Given the description of an element on the screen output the (x, y) to click on. 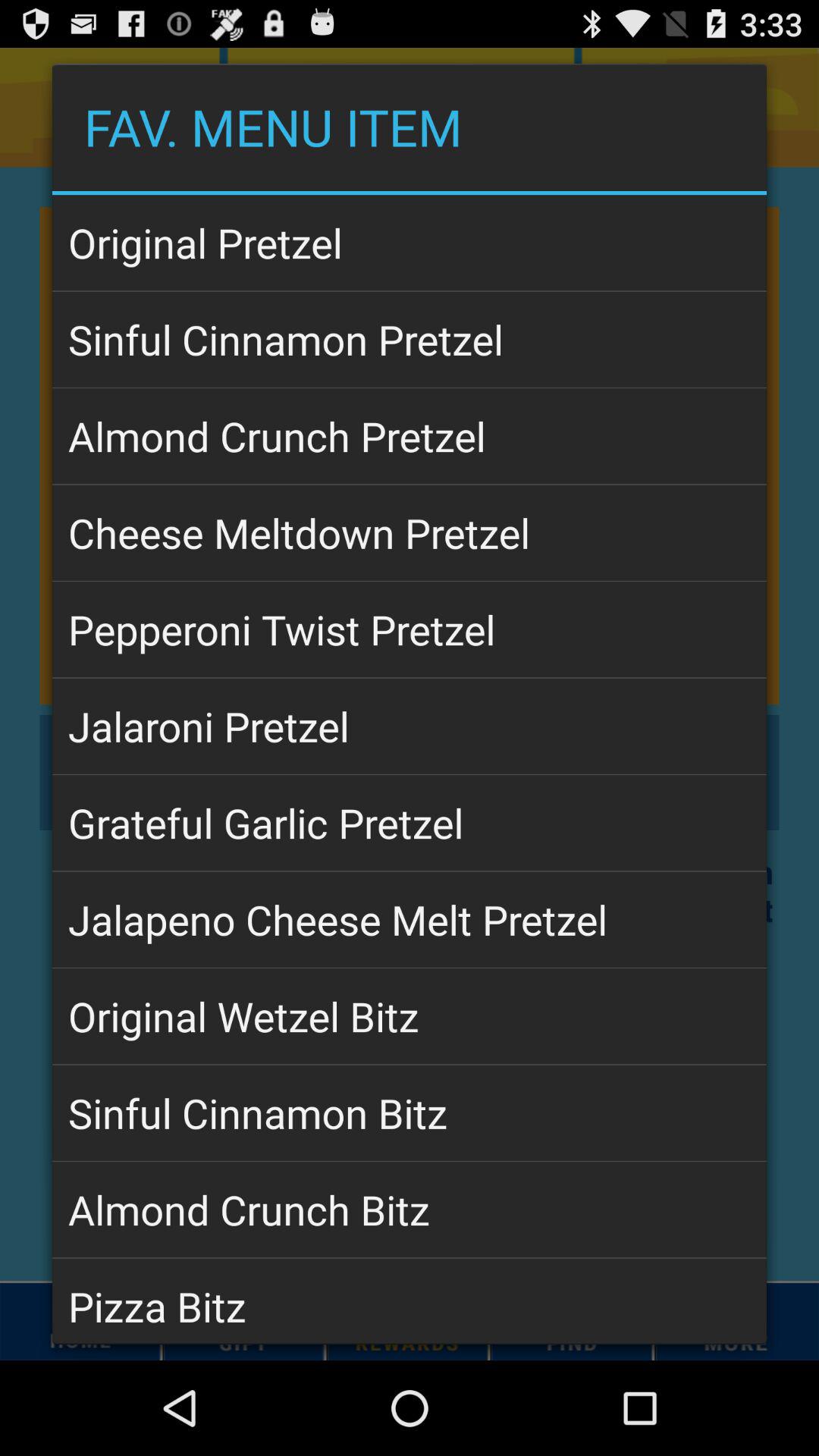
turn on grateful garlic pretzel app (409, 822)
